Given the description of an element on the screen output the (x, y) to click on. 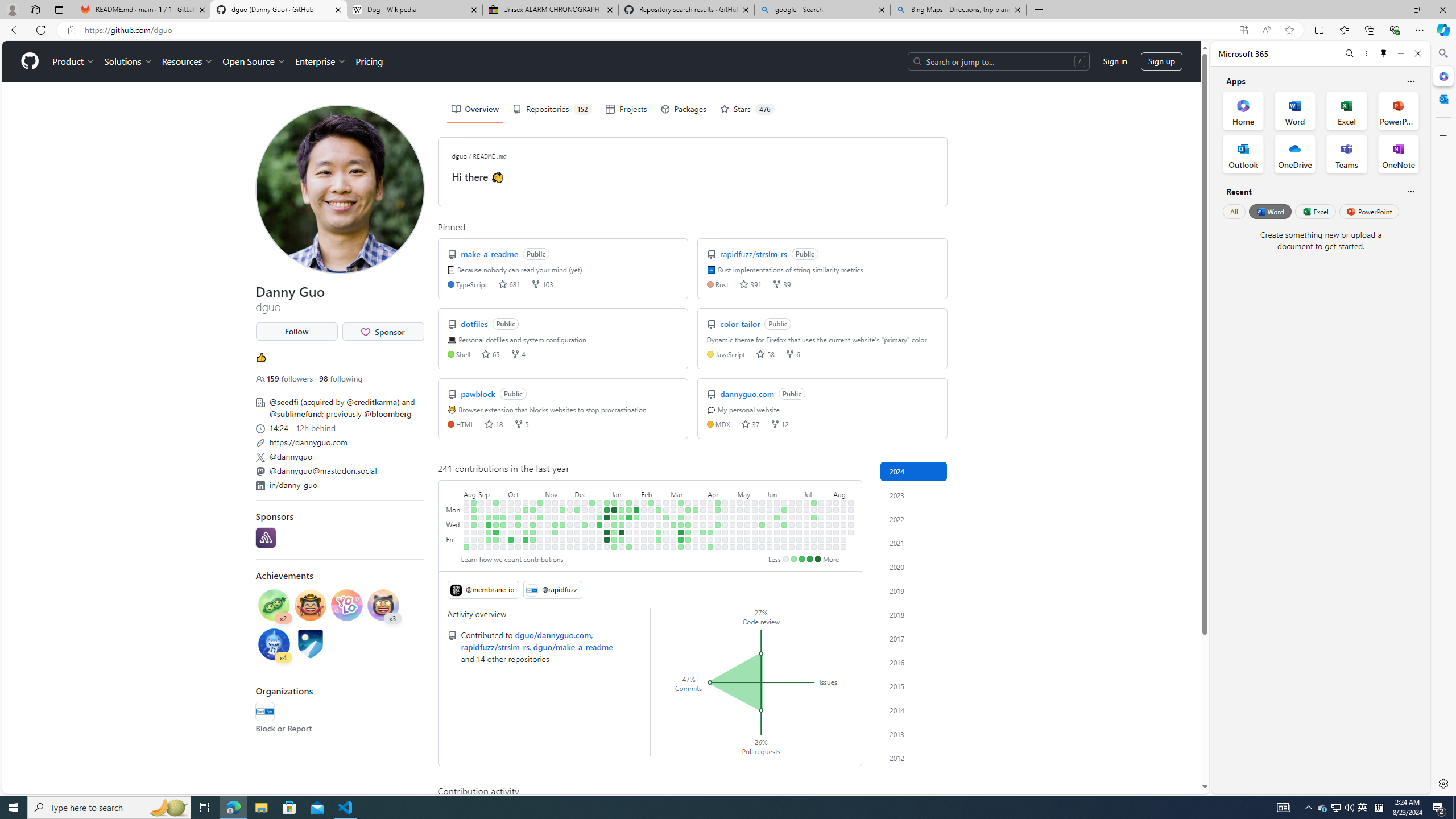
No contributions on February 13th. (651, 517)
@dannyguo (291, 456)
No contributions on May 26th. (761, 502)
Contribution activity in 2023 (913, 494)
3 contributions on May 29th. (761, 524)
No contributions on September 23rd. (496, 546)
1 contribution on December 31st. (607, 502)
No contributions on September 8th. (481, 539)
No contributions on May 25th. (754, 546)
Contribution activity in 2013 (913, 733)
23 contributions on January 2nd. (607, 517)
No contributions on June 22nd. (784, 546)
No contributions on October 2nd. (510, 509)
No contributions on February 21st. (658, 524)
